Given the description of an element on the screen output the (x, y) to click on. 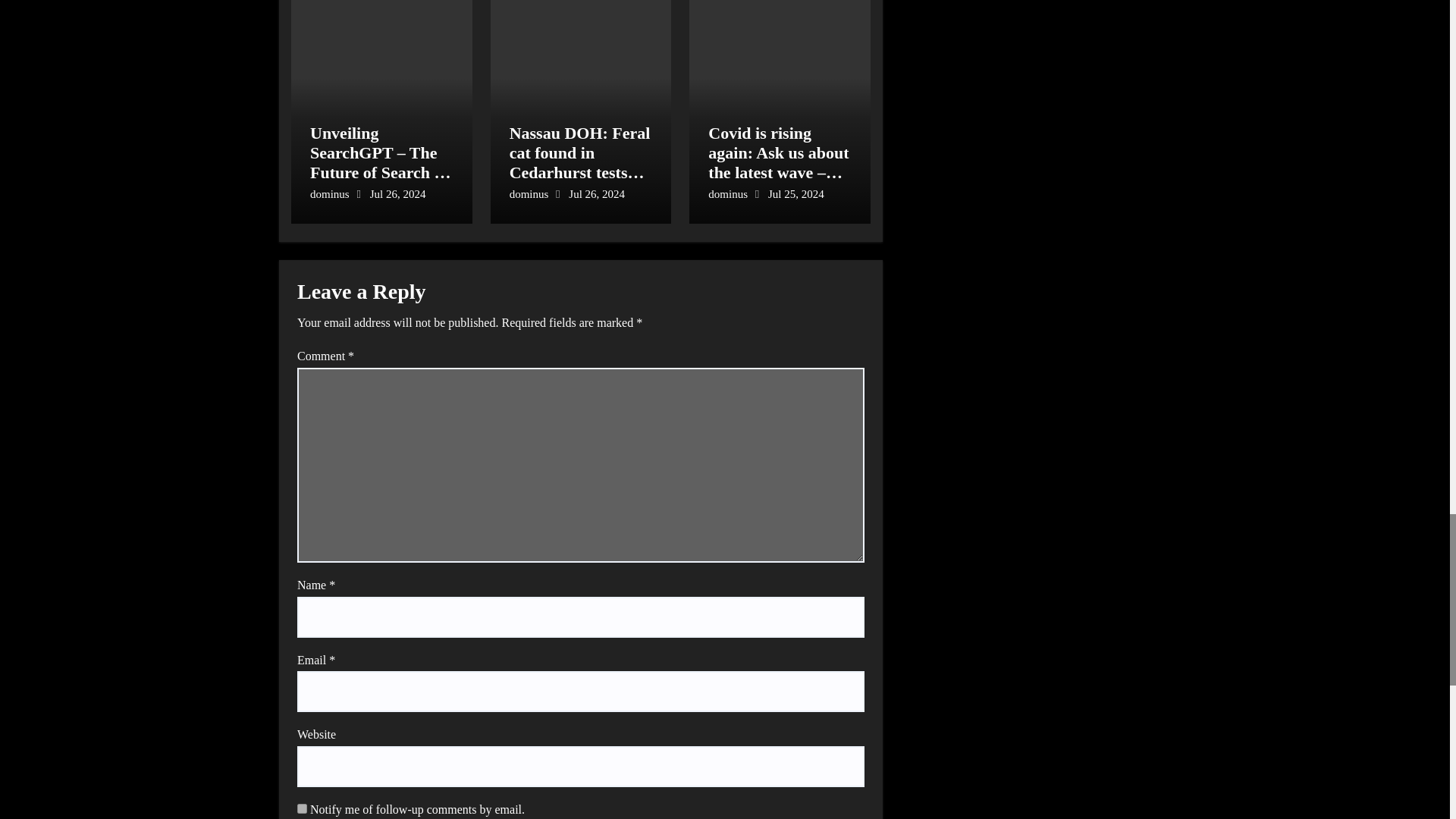
subscribe (302, 808)
